Given the description of an element on the screen output the (x, y) to click on. 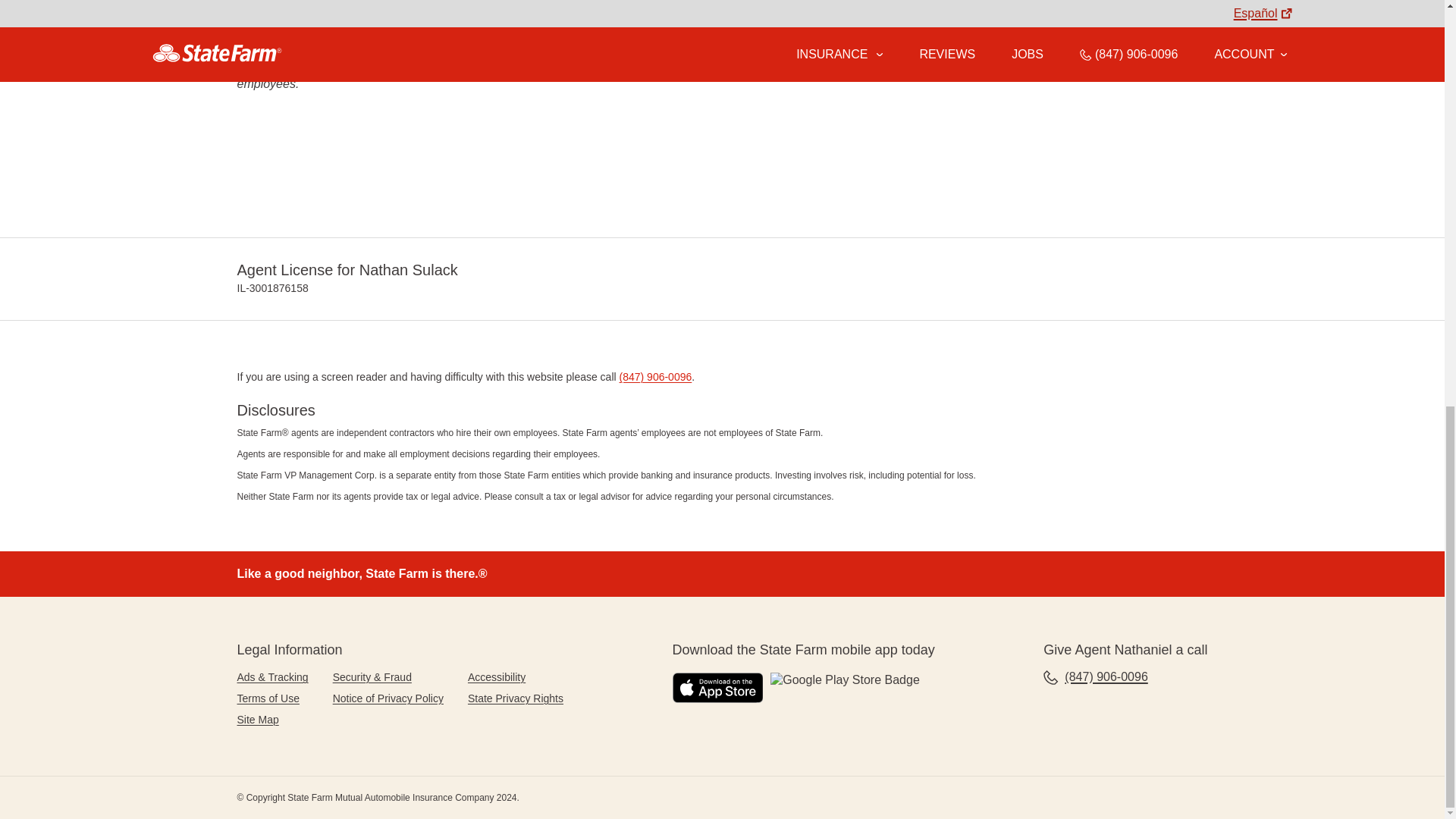
Apply Now (381, 11)
